Given the description of an element on the screen output the (x, y) to click on. 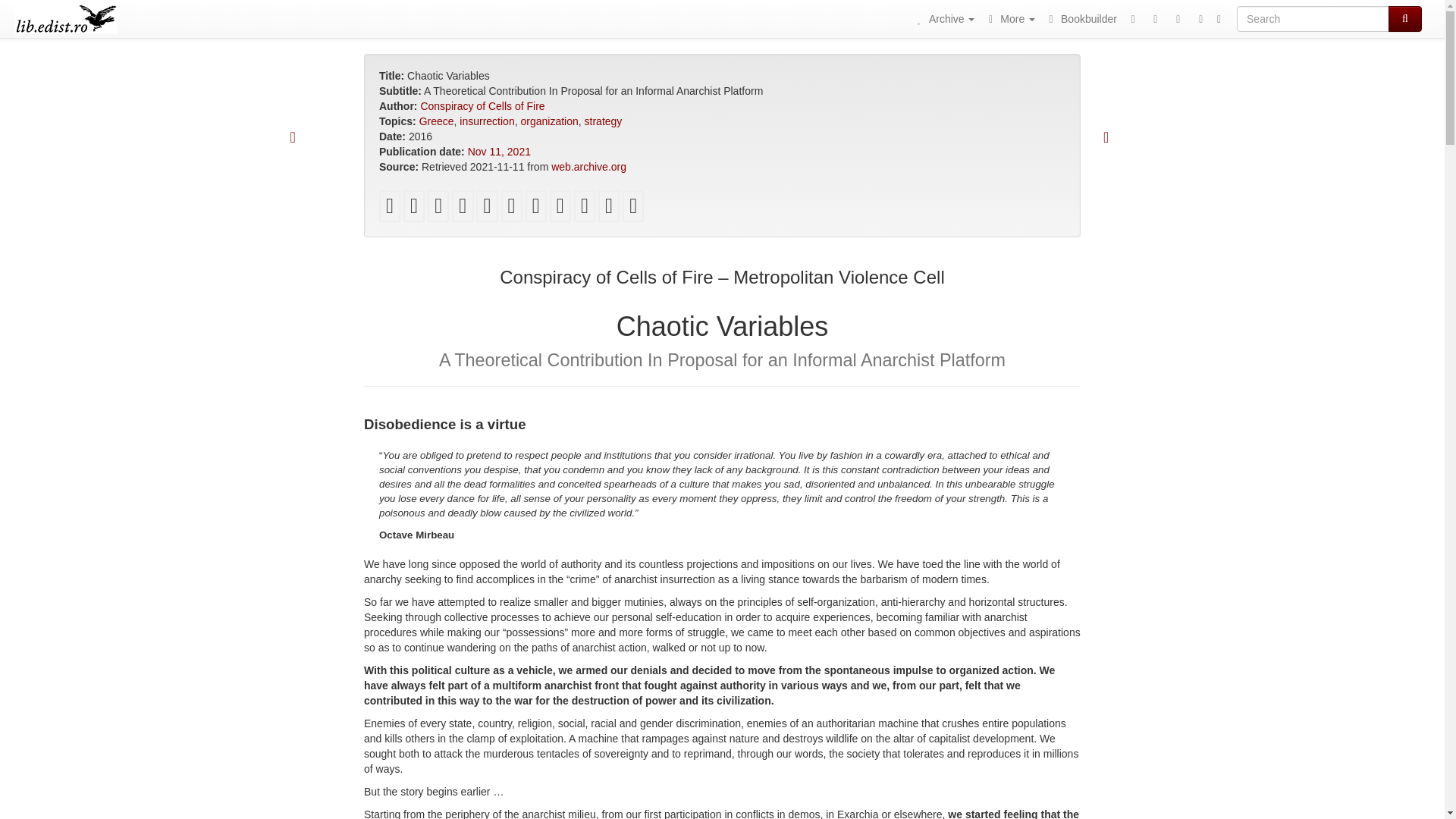
Nov 11, 2021 (499, 151)
Archive (943, 18)
insurrection (486, 121)
More (1008, 18)
web.archive.org (588, 166)
plain text source (536, 209)
Bookbuilder (1080, 18)
A4 imposed PDF (438, 209)
Greece (436, 121)
Search (1405, 18)
Plain PDF (389, 209)
XeLaTeX source (511, 209)
Conspiracy of Cells of Fire (482, 105)
lib.edist.ro (65, 18)
Letter imposed PDF (414, 209)
